Given the description of an element on the screen output the (x, y) to click on. 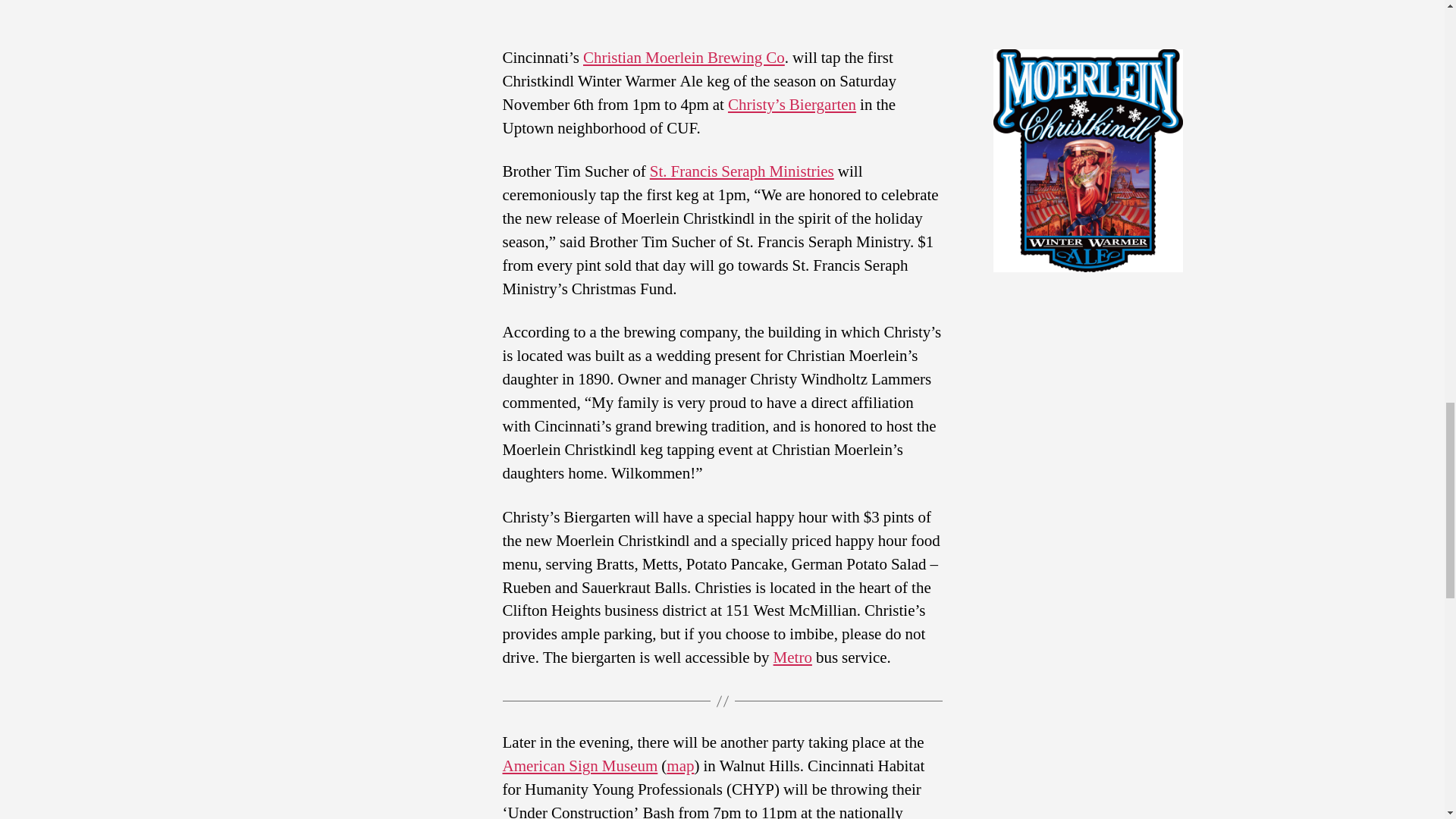
Christian Moerlein Brewing Co (683, 57)
American Sign Museum (580, 765)
map (680, 765)
St. Francis Seraph Ministries (741, 171)
Metro (792, 657)
